Given the description of an element on the screen output the (x, y) to click on. 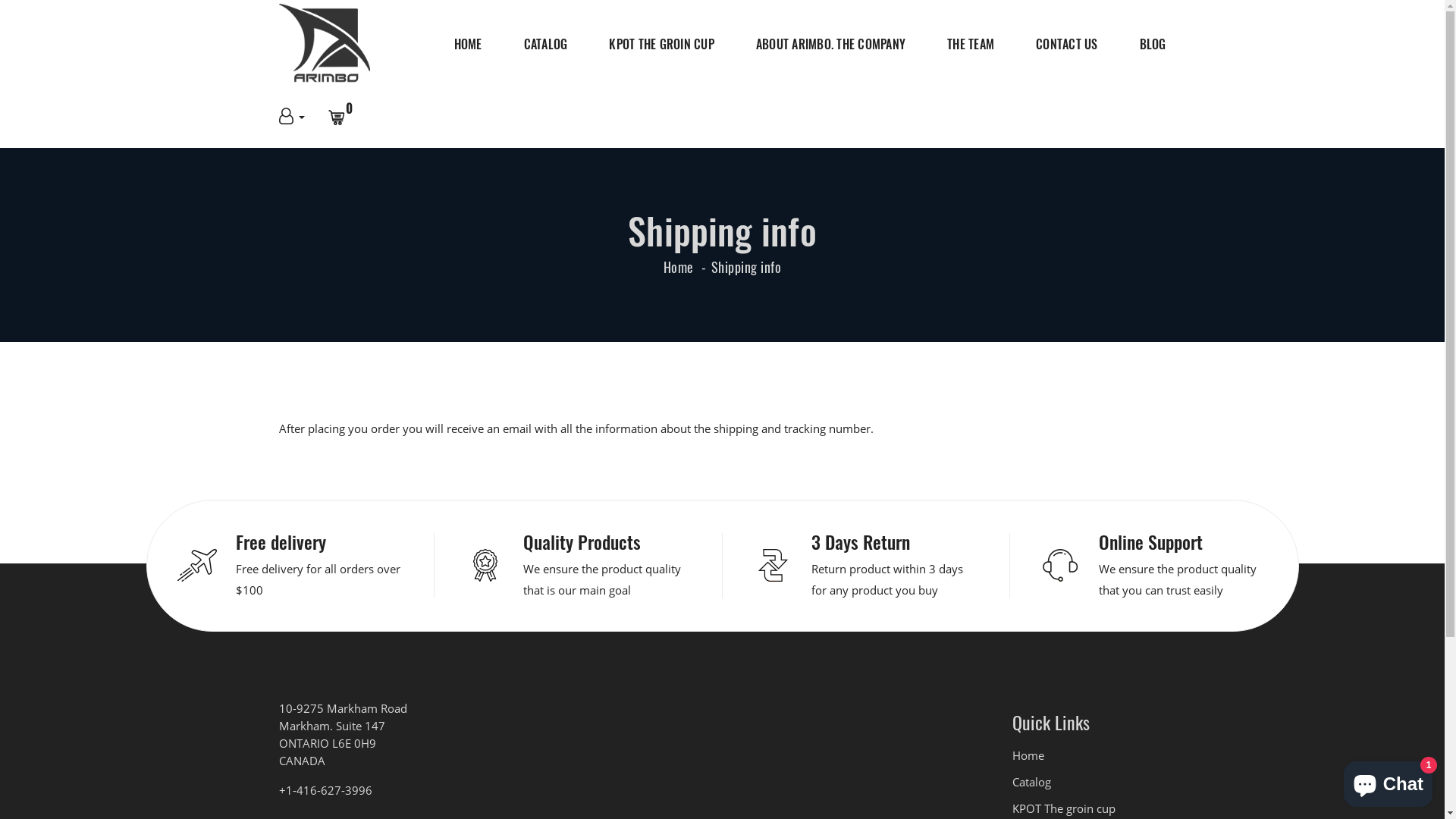
KPOT The groin cup Element type: text (1088, 808)
Catalog Element type: text (1088, 781)
HOME Element type: text (467, 43)
CATALOG Element type: text (545, 43)
Home Element type: text (678, 266)
Shopify online store chat Element type: hover (1388, 780)
ABOUT ARIMBO. THE COMPANY Element type: text (830, 43)
CONTACT US Element type: text (1066, 43)
Home Element type: text (1088, 755)
KPOT THE GROIN CUP Element type: text (661, 43)
THE TEAM Element type: text (970, 43)
BLOG Element type: text (1152, 43)
0 Element type: text (343, 117)
